Given the description of an element on the screen output the (x, y) to click on. 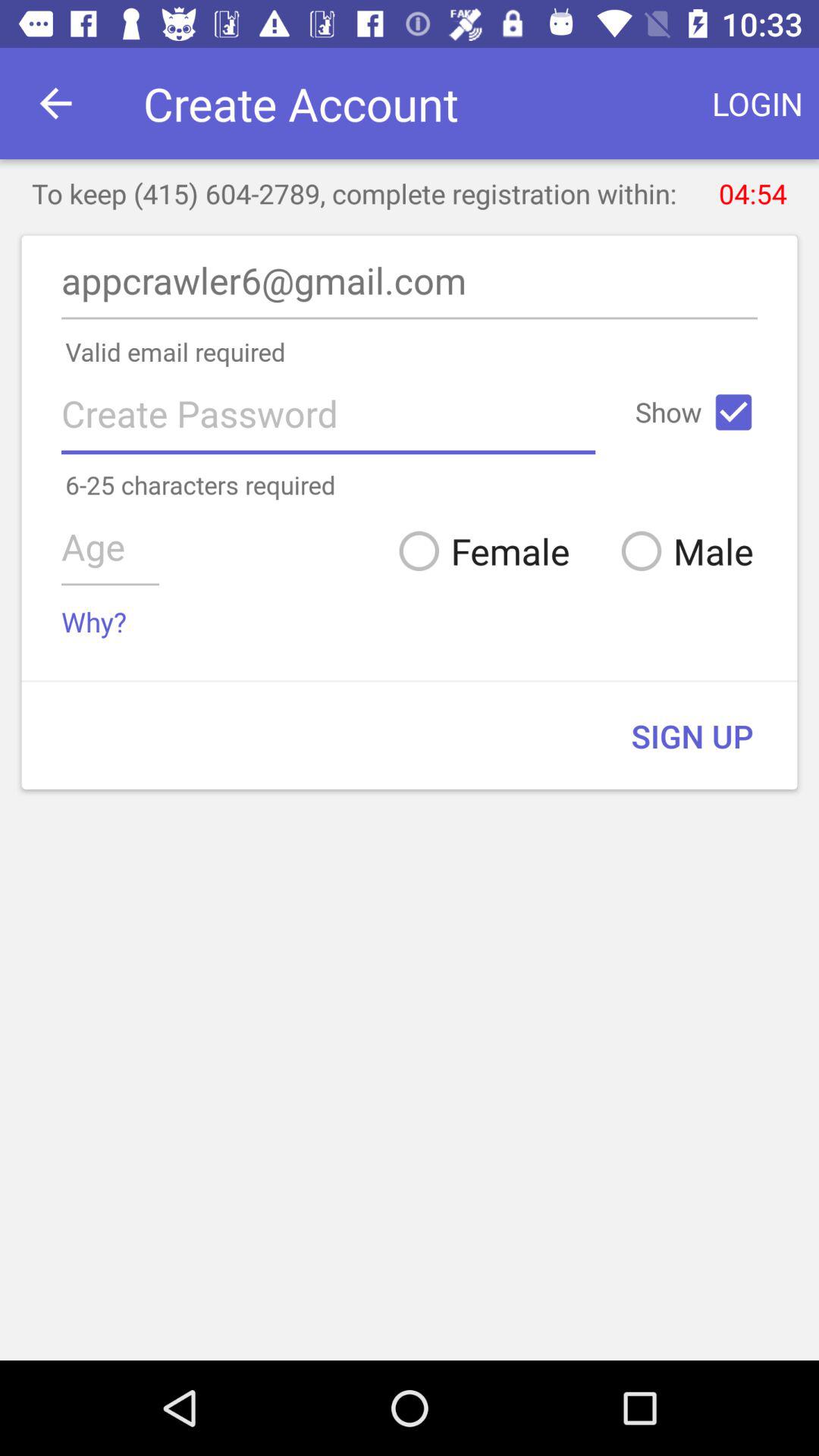
turn on the icon below the valid email required item (733, 412)
